Given the description of an element on the screen output the (x, y) to click on. 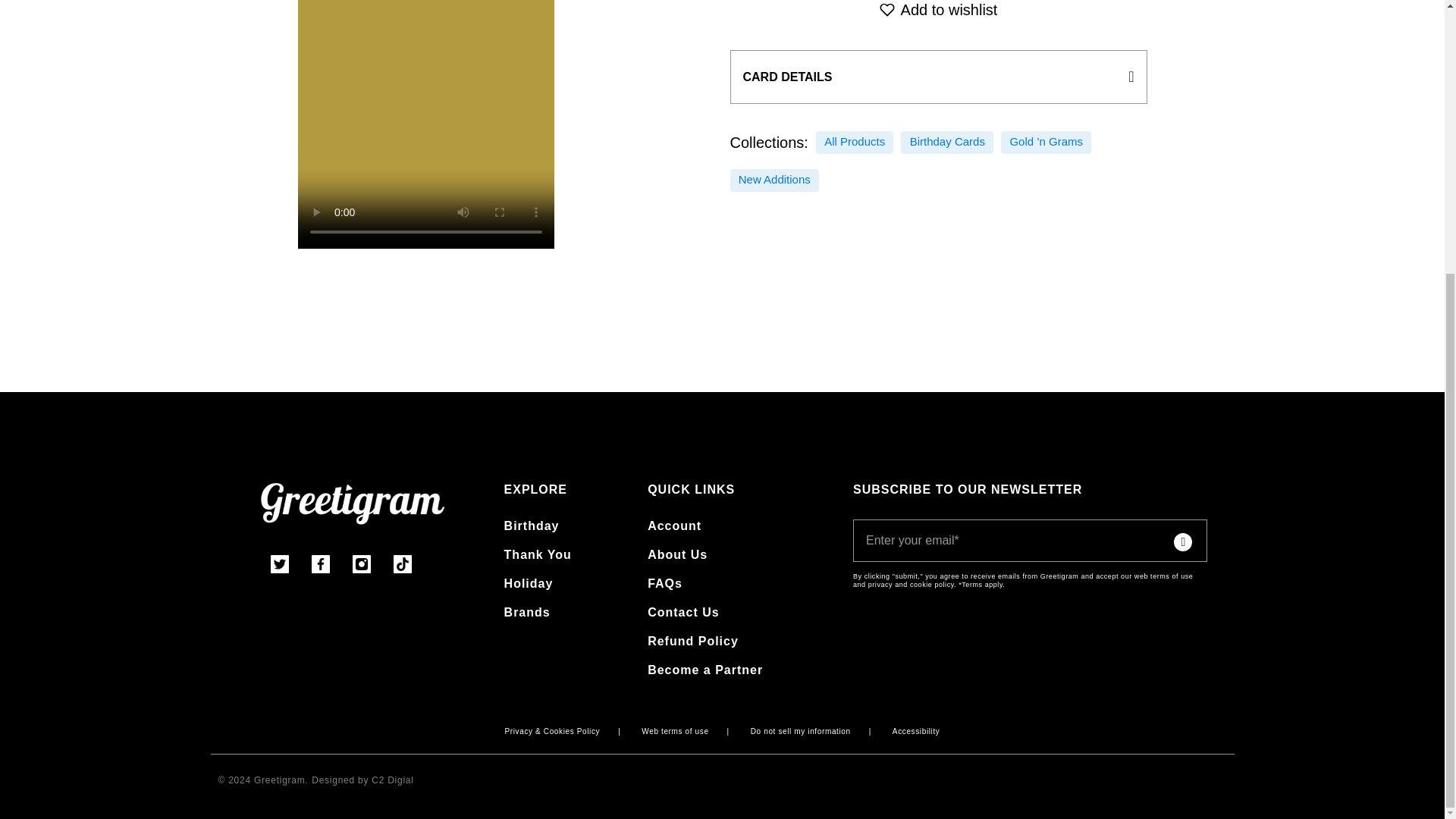
Greetigram on Tiktok (411, 567)
New Additions (774, 180)
Add to wishlist (938, 12)
Greetigram on Instagram (371, 567)
Greetigram on Facebook (330, 567)
Greetigram on Twitter (288, 567)
All Products (854, 141)
Birthday Cards (947, 141)
Greetigram (352, 511)
